Given the description of an element on the screen output the (x, y) to click on. 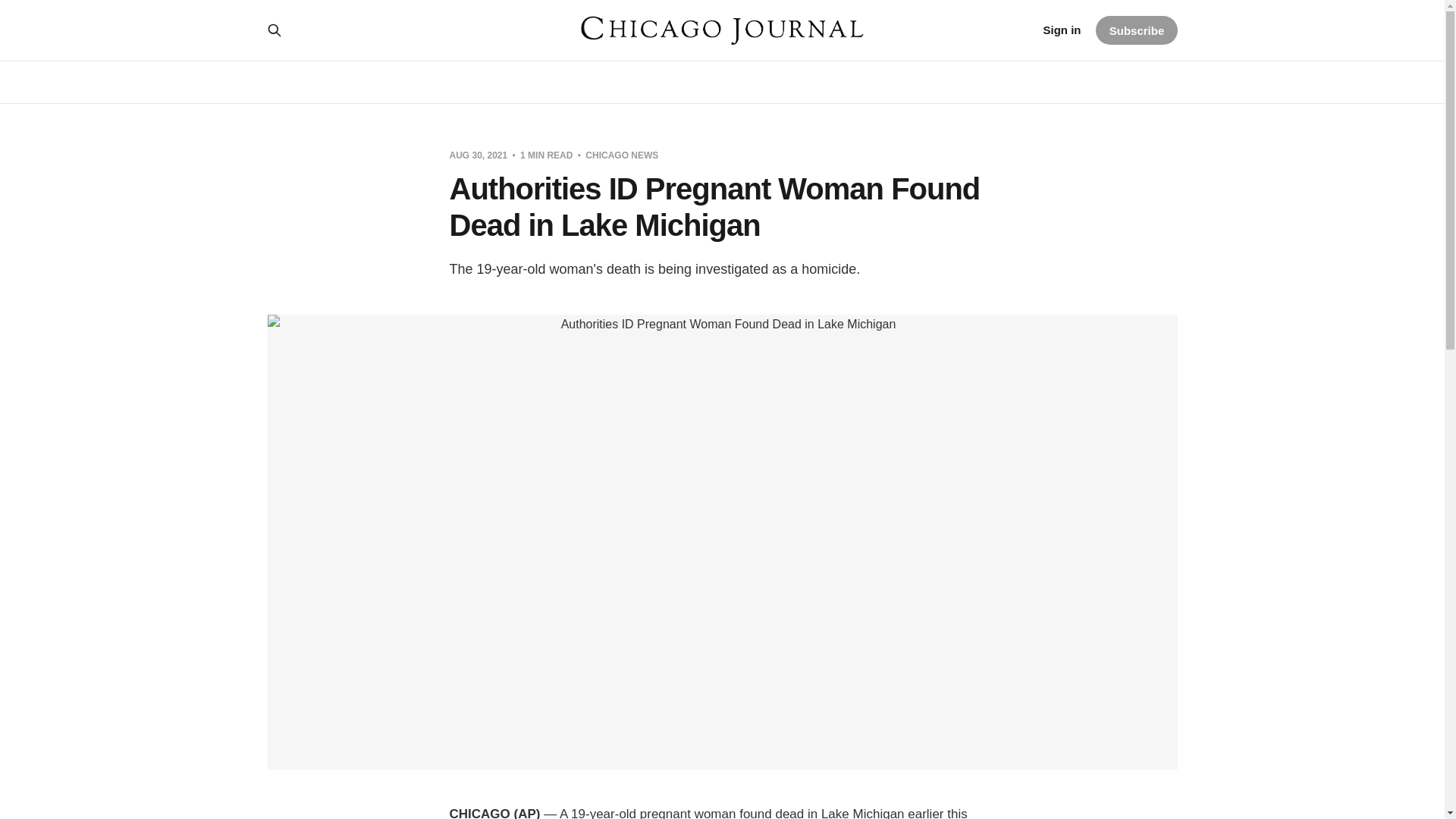
Sign in (1061, 30)
Subscribe (1136, 30)
CHICAGO NEWS (621, 154)
